Given the description of an element on the screen output the (x, y) to click on. 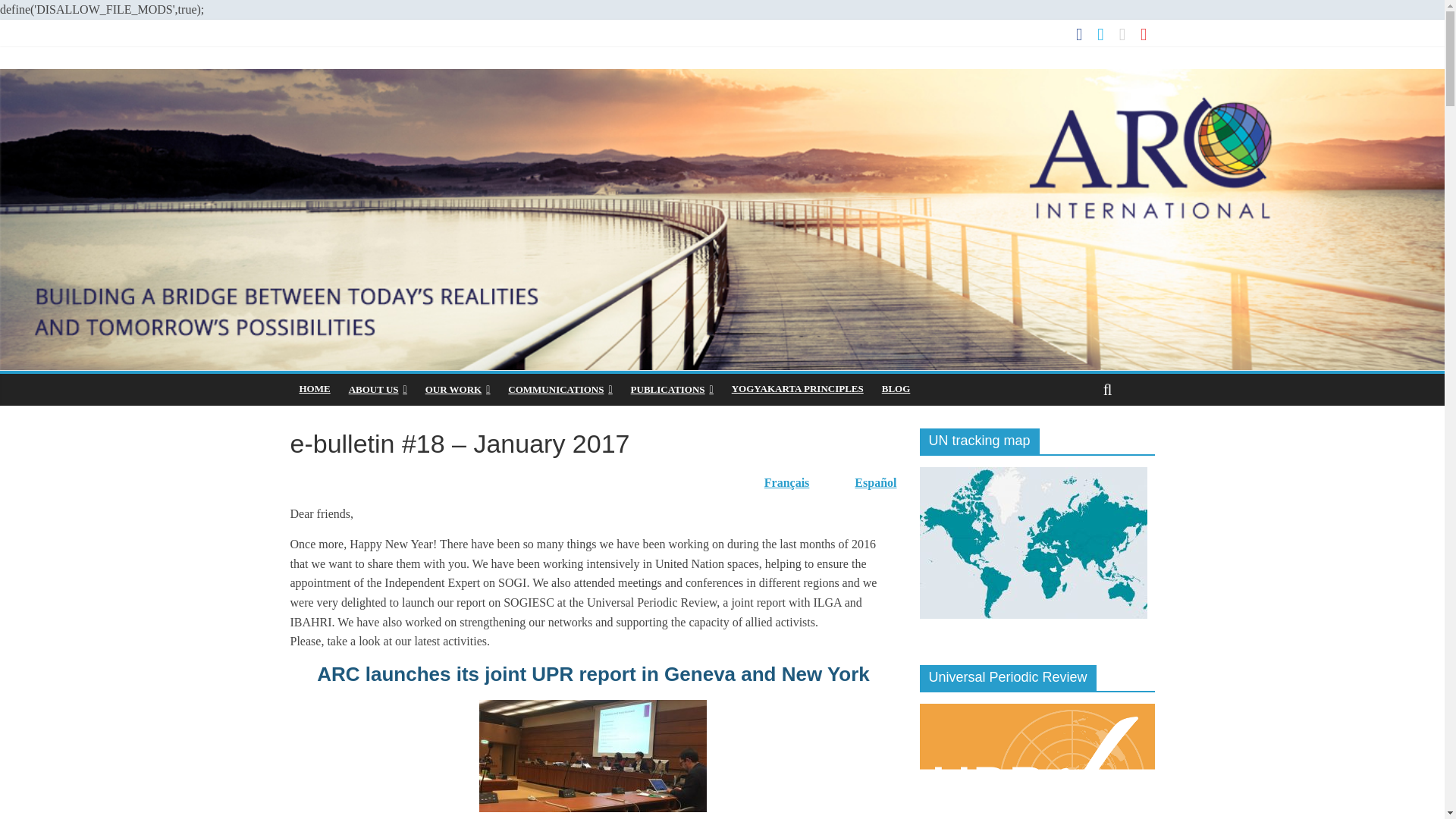
COMMUNICATIONS (560, 389)
OUR WORK (457, 389)
ABOUT US (377, 389)
HOME (314, 388)
PUBLICATIONS (671, 389)
